Given the description of an element on the screen output the (x, y) to click on. 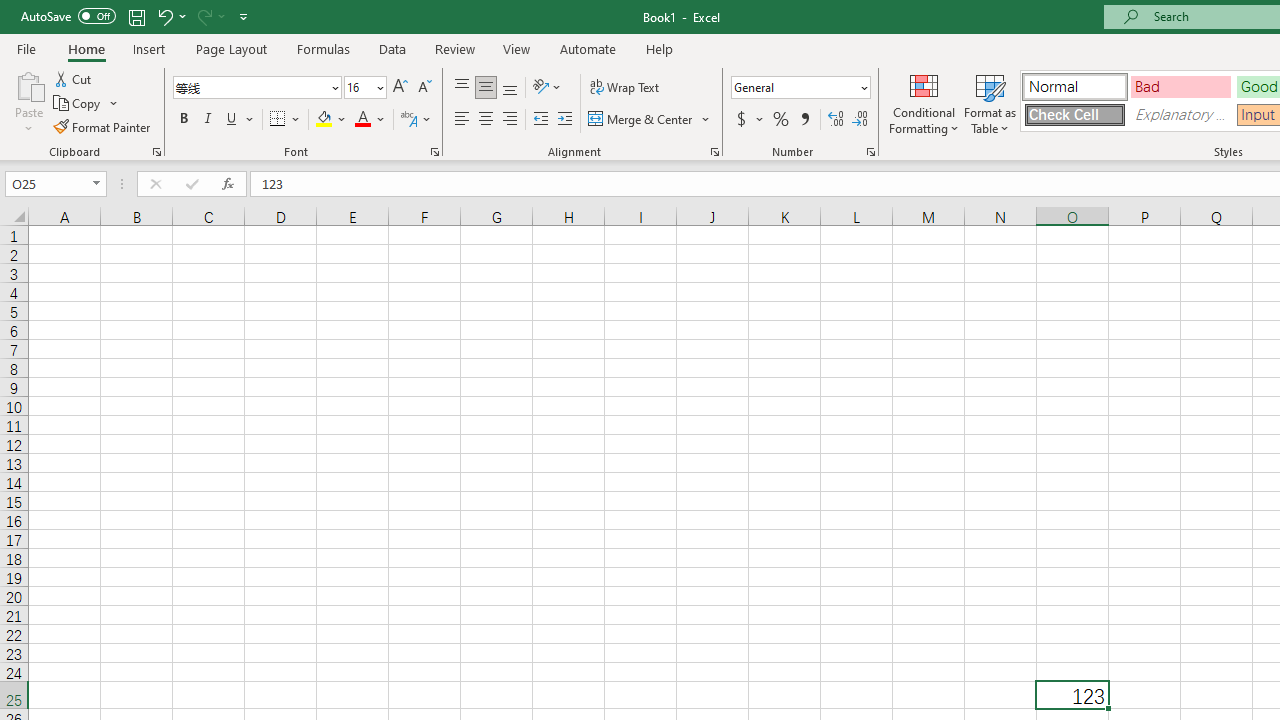
Center (485, 119)
Format as Table (990, 102)
Paste (28, 84)
Increase Font Size (399, 87)
Font Color (370, 119)
Decrease Indent (540, 119)
Format Cell Font (434, 151)
Bottom Border (278, 119)
Merge & Center (641, 119)
Decrease Font Size (424, 87)
Paste (28, 102)
Merge & Center (649, 119)
